Given the description of an element on the screen output the (x, y) to click on. 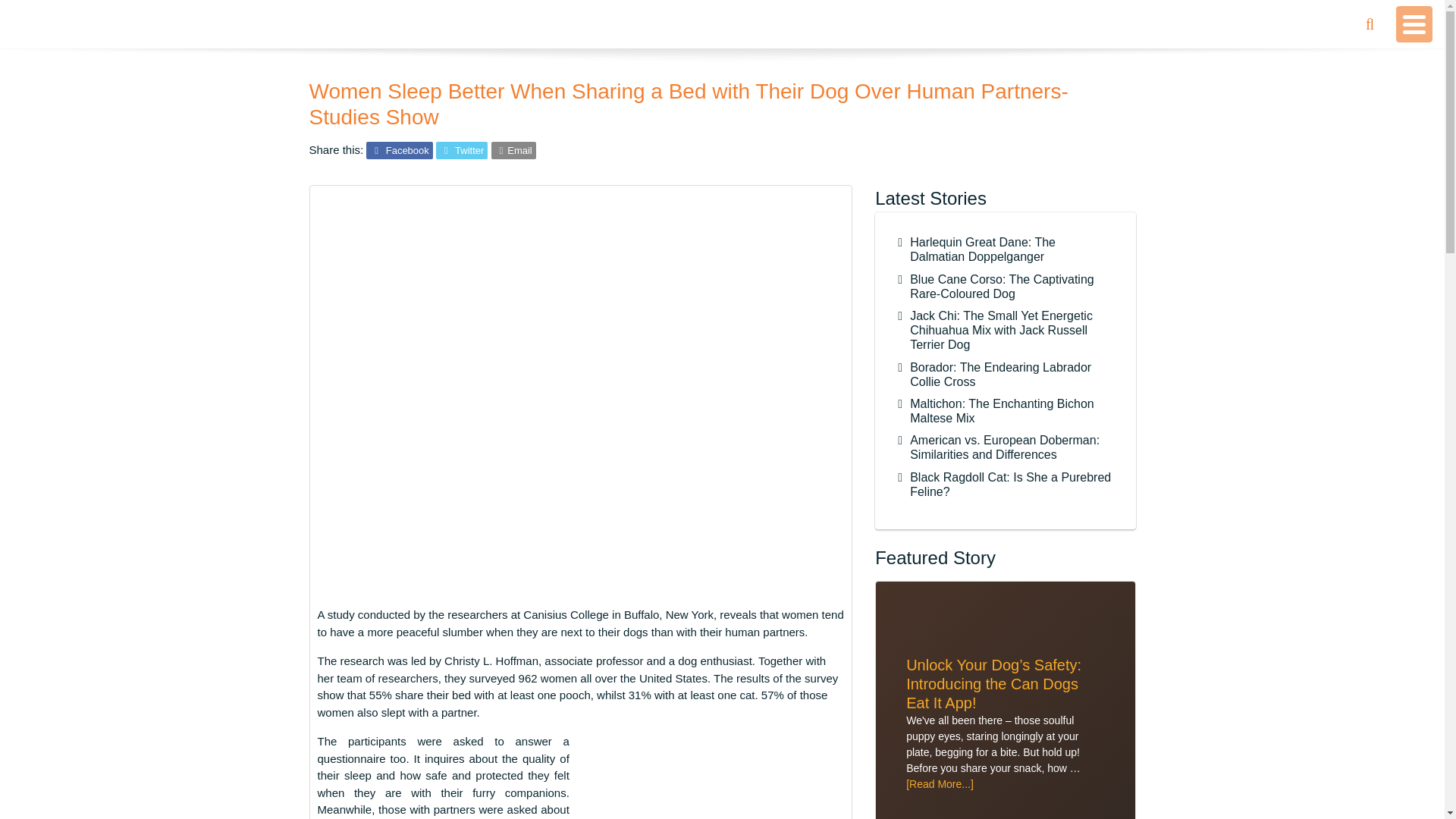
Facebook (399, 149)
Share to a Friend (513, 149)
Email (513, 149)
Twitter (461, 149)
